Given the description of an element on the screen output the (x, y) to click on. 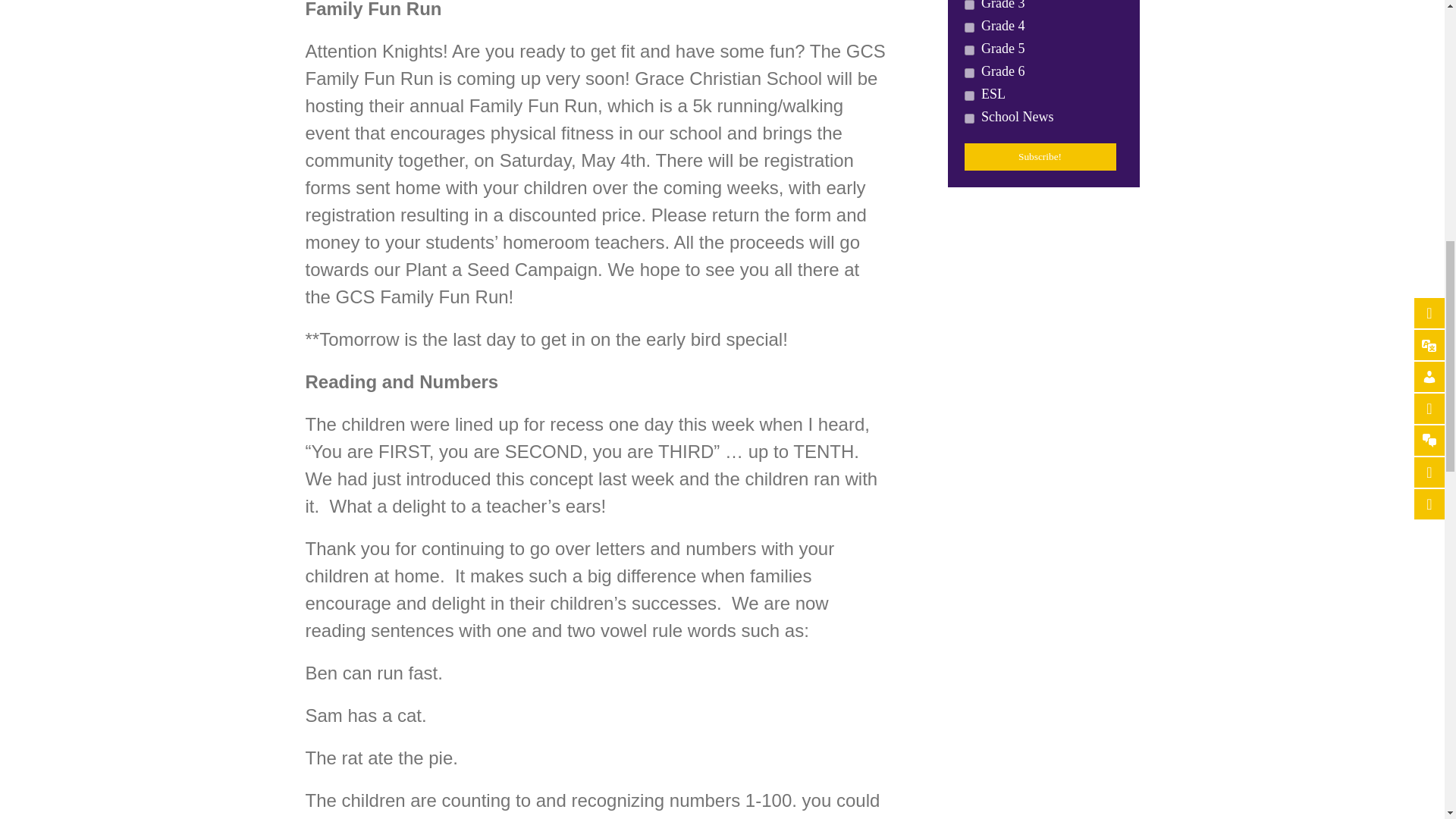
Subscribe! (1039, 156)
4 (968, 4)
5 (968, 72)
Subscribe! (1039, 156)
6 (968, 95)
11 (968, 50)
8 (968, 118)
10 (968, 27)
